Given the description of an element on the screen output the (x, y) to click on. 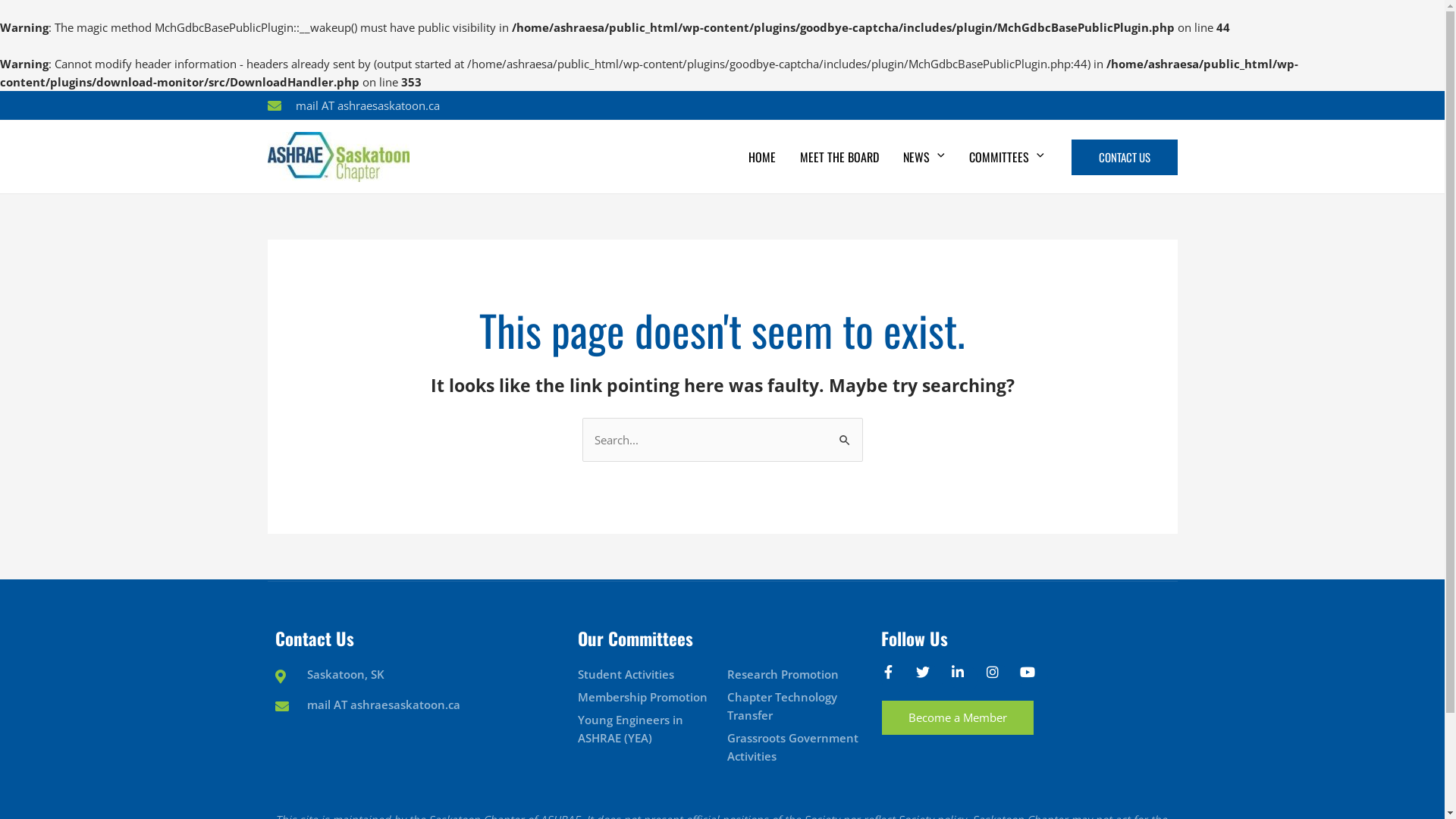
Grassroots Government Activities Element type: text (796, 746)
Twitter Element type: text (929, 678)
COMMITTEES Element type: text (1006, 156)
Young Engineers in ASHRAE (YEA) Element type: text (646, 728)
Linkedin-in Element type: text (964, 678)
mail AT ashraesaskatoon.ca Element type: text (352, 105)
Membership Promotion Element type: text (646, 696)
Student Activities Element type: text (646, 674)
Become a Member Element type: text (957, 717)
mail AT ashraesaskatoon.ca Element type: text (367, 703)
HOME Element type: text (761, 156)
Research Promotion Element type: text (796, 674)
Instagram Element type: text (999, 678)
NEWS Element type: text (924, 156)
Chapter Technology Transfer Element type: text (796, 705)
MEET THE BOARD Element type: text (839, 156)
Facebook-f Element type: text (894, 678)
Search Element type: text (845, 432)
Youtube Element type: text (1034, 678)
CONTACT US Element type: text (1123, 157)
